Given the description of an element on the screen output the (x, y) to click on. 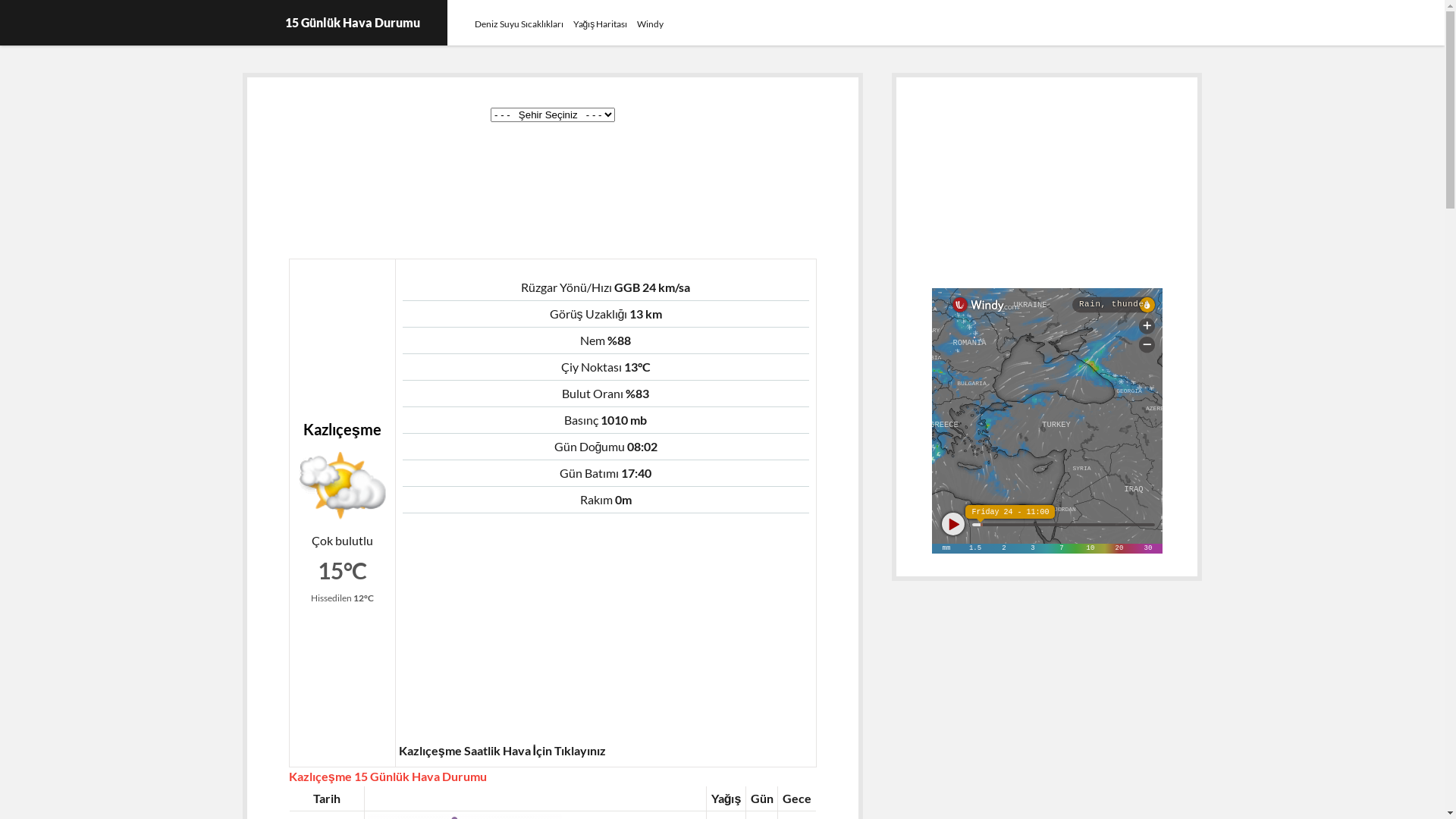
Advertisement Element type: hover (552, 192)
Windy Element type: text (650, 23)
Advertisement Element type: hover (605, 631)
Advertisement Element type: hover (1046, 191)
